Given the description of an element on the screen output the (x, y) to click on. 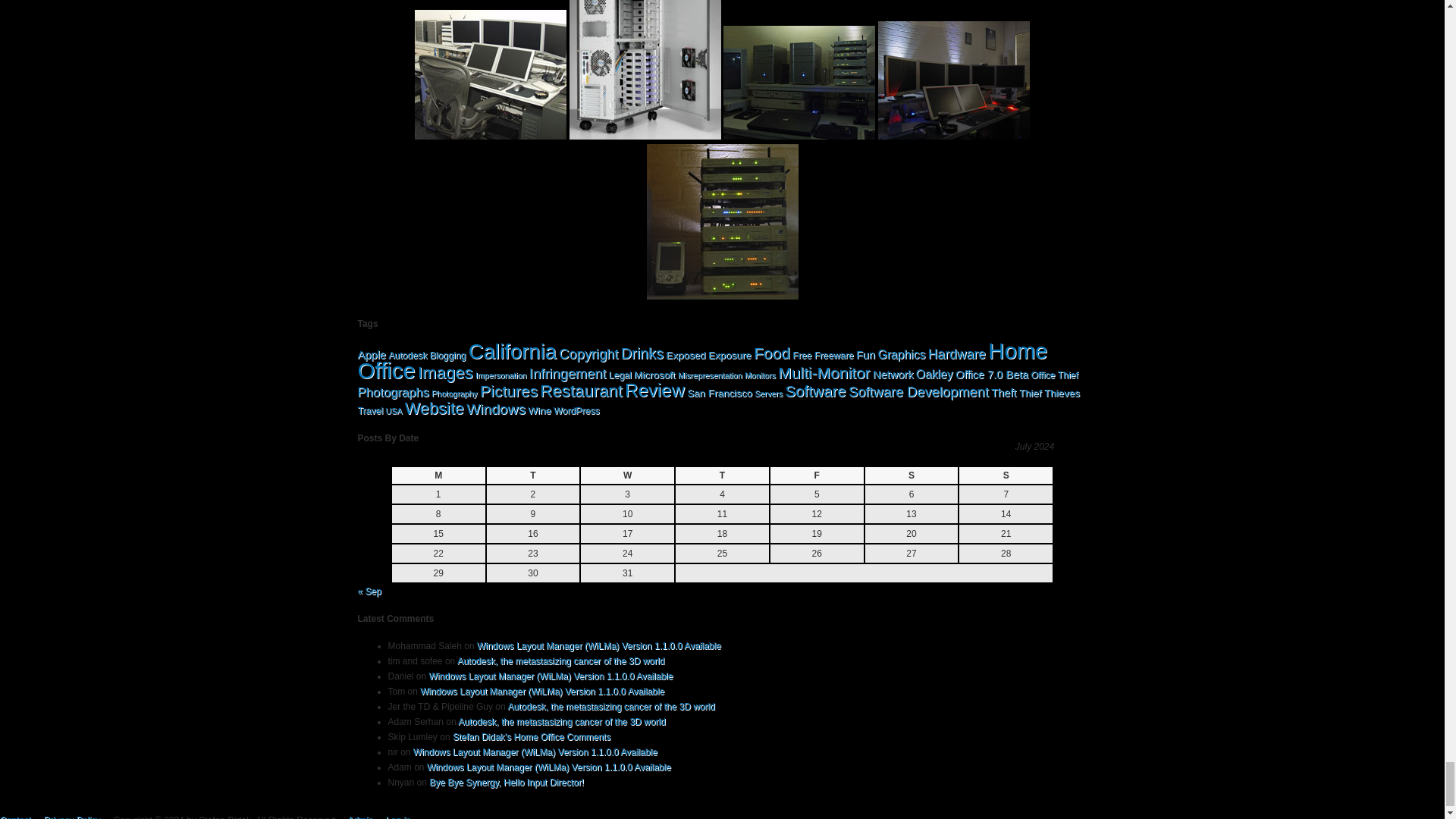
Sunday (1005, 475)
Wednesday (627, 475)
Saturday (911, 475)
Tuesday (532, 475)
Monday (437, 475)
Friday (816, 475)
Thursday (721, 475)
